Given the description of an element on the screen output the (x, y) to click on. 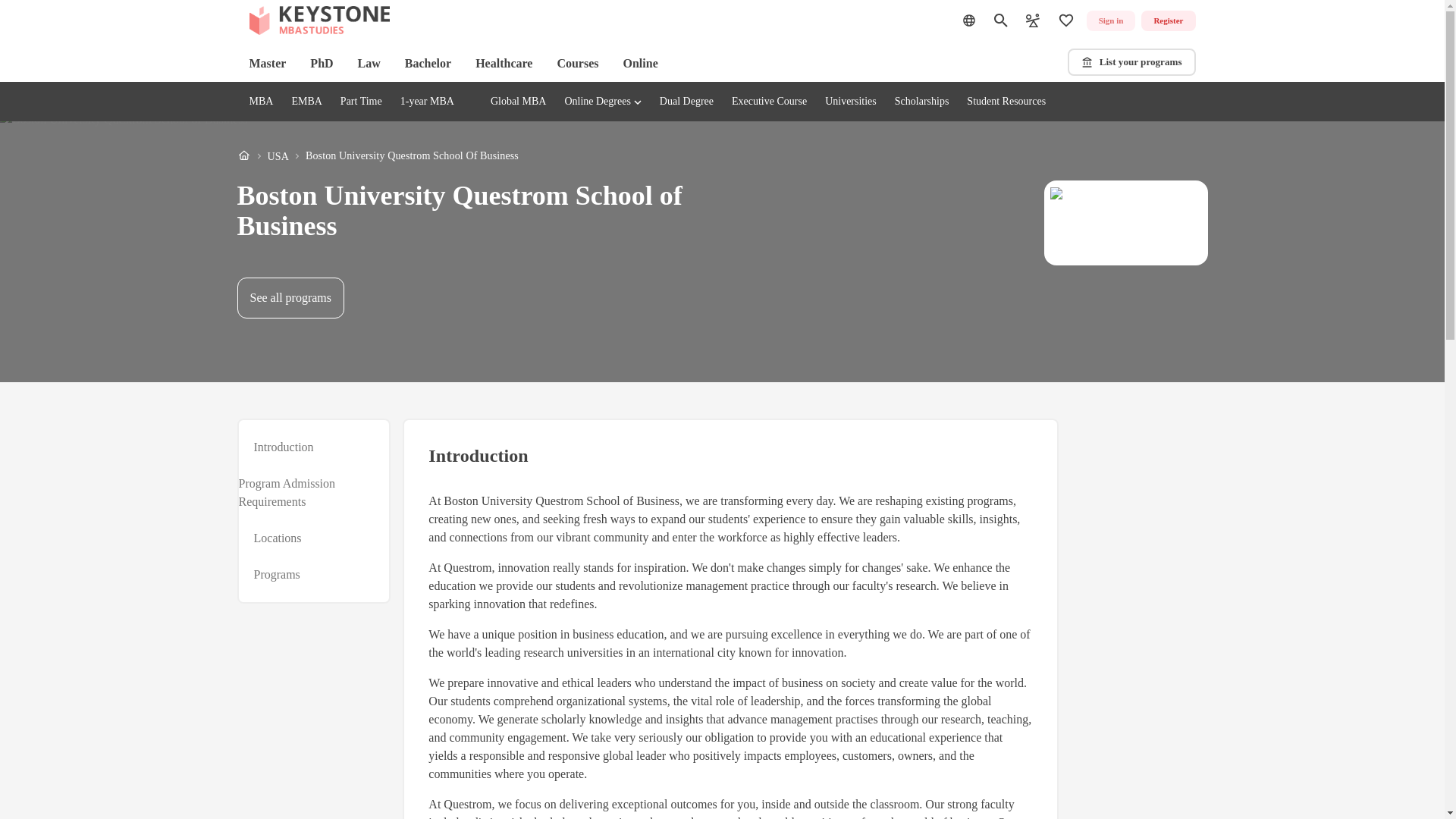
Student Resources (1005, 101)
See all programs (289, 297)
Universities (850, 101)
Register (1168, 20)
Program Admission Requirements (304, 493)
Master (266, 63)
Healthcare (504, 63)
Locations (277, 538)
Bachelor (427, 63)
Scholarships (922, 101)
USA (277, 156)
Online (376, 156)
EMBA (640, 63)
Dual Degree (306, 101)
